Given the description of an element on the screen output the (x, y) to click on. 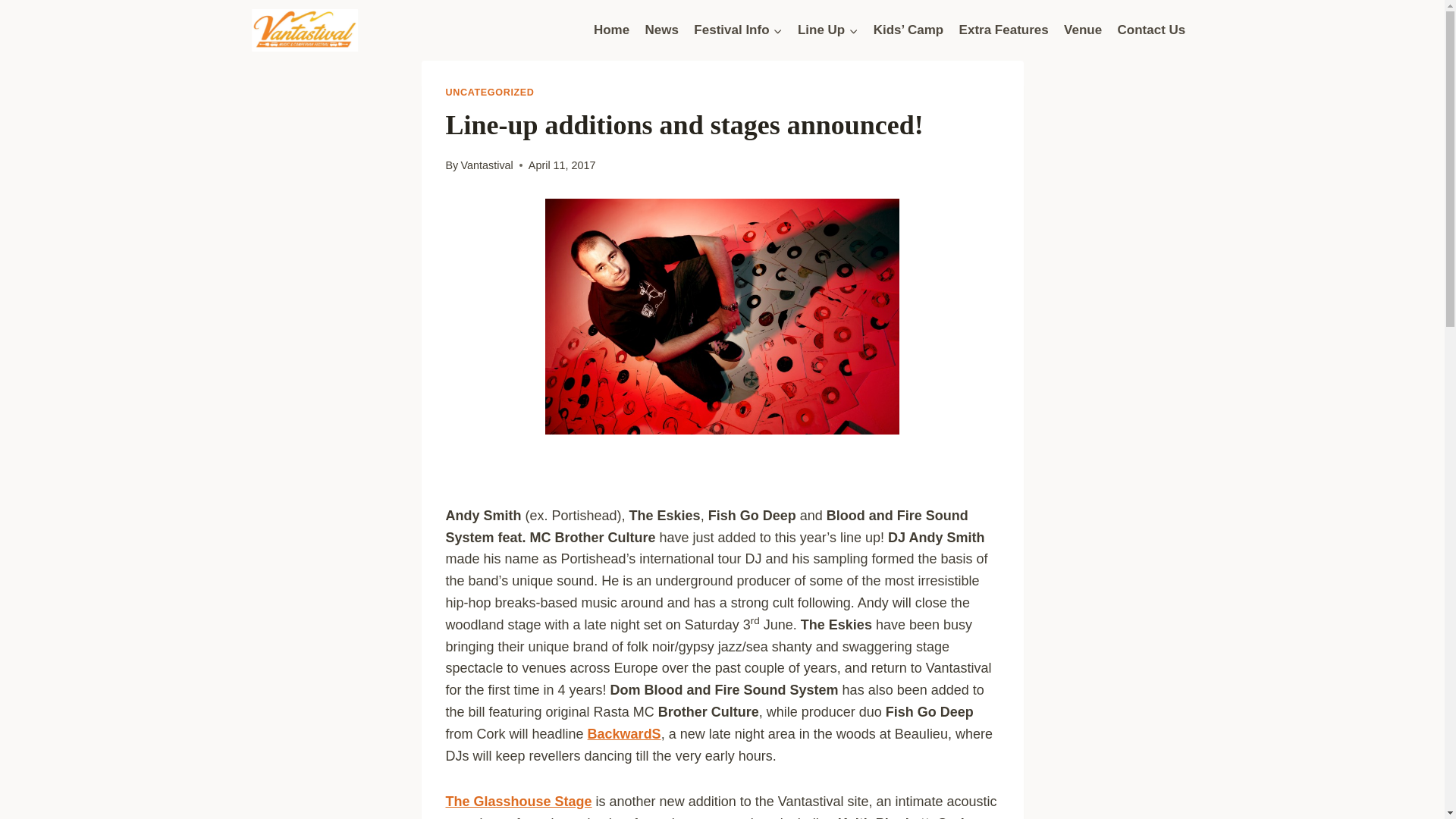
Venue (1083, 30)
BackwardS (624, 734)
Home (611, 30)
Vantastival (486, 164)
Line Up (828, 30)
Festival Info (737, 30)
Contact Us (1150, 30)
Extra Features (1003, 30)
News (661, 30)
The Glasshouse Stage (518, 801)
